Given the description of an element on the screen output the (x, y) to click on. 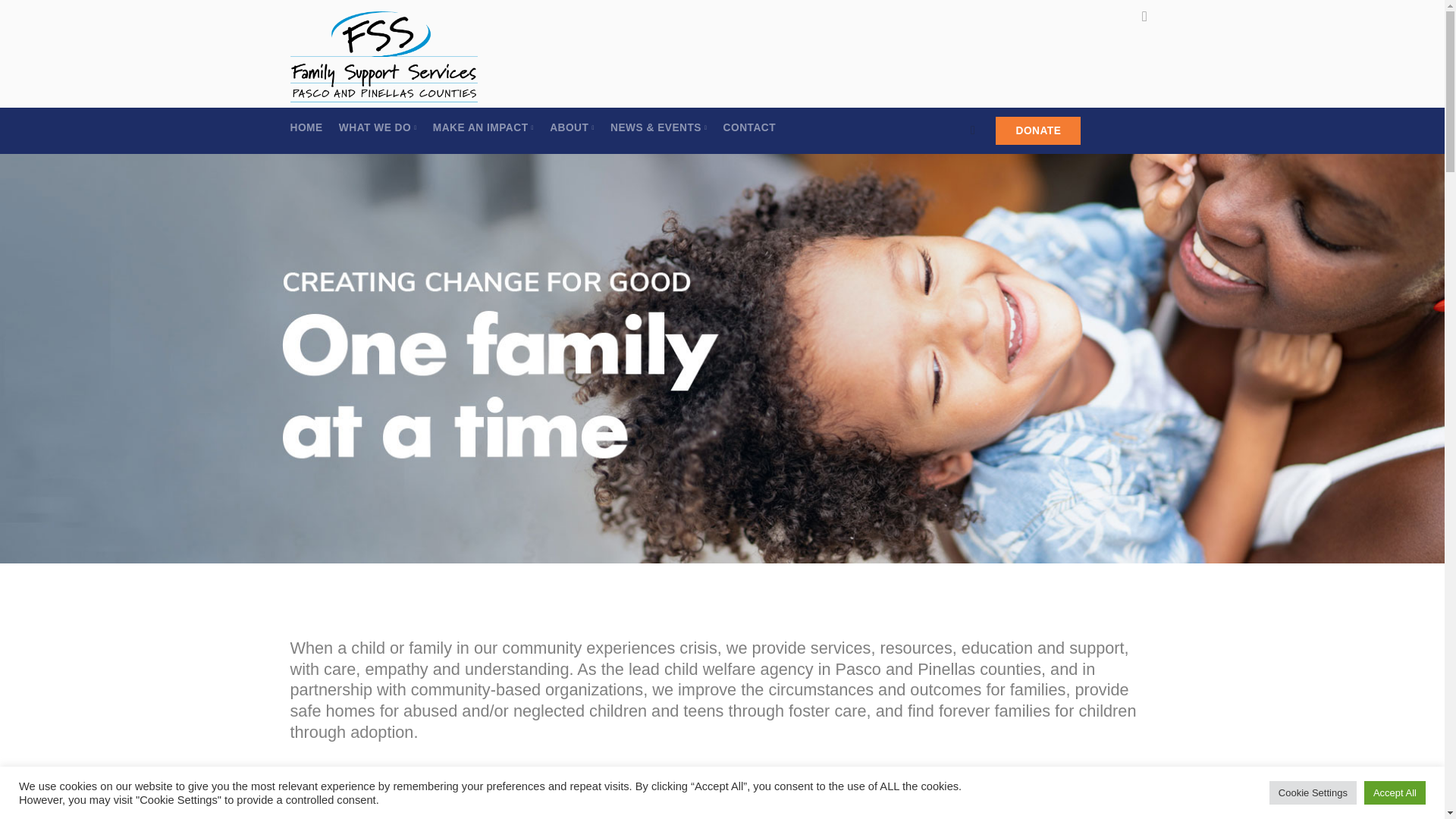
WHAT WE DO (377, 127)
HOME (305, 127)
DONATE (1037, 130)
CONTACT (749, 127)
ABOUT (572, 127)
MAKE AN IMPACT (483, 127)
